Given the description of an element on the screen output the (x, y) to click on. 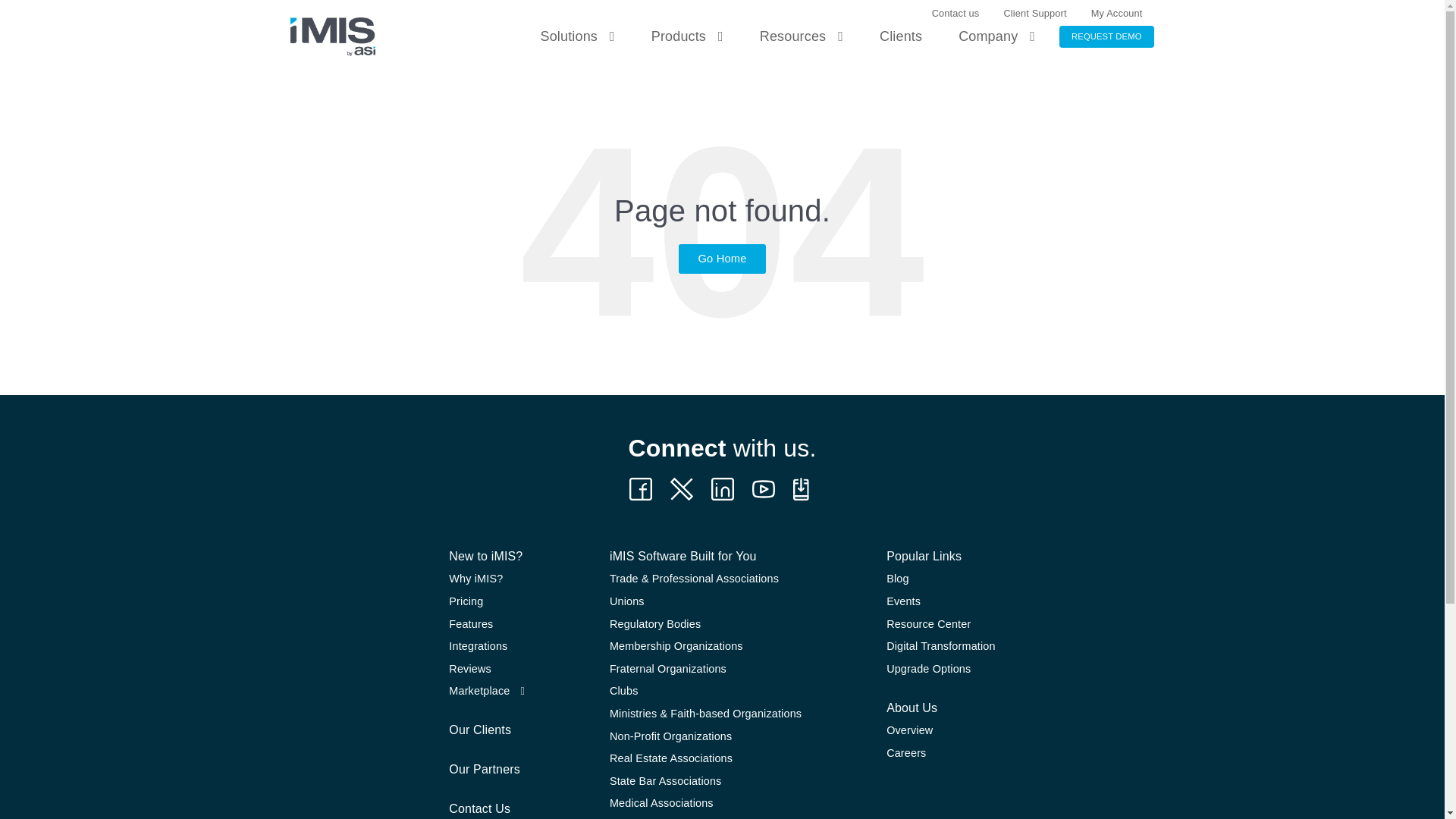
Products (687, 37)
Twitter (681, 488)
Client Support (1034, 13)
YouTube (763, 488)
LinkedIn (722, 488)
Follow on Twitter (804, 488)
My Account (1116, 13)
Follow on Facebook (640, 488)
Contact us (955, 13)
Solutions (576, 37)
